Given the description of an element on the screen output the (x, y) to click on. 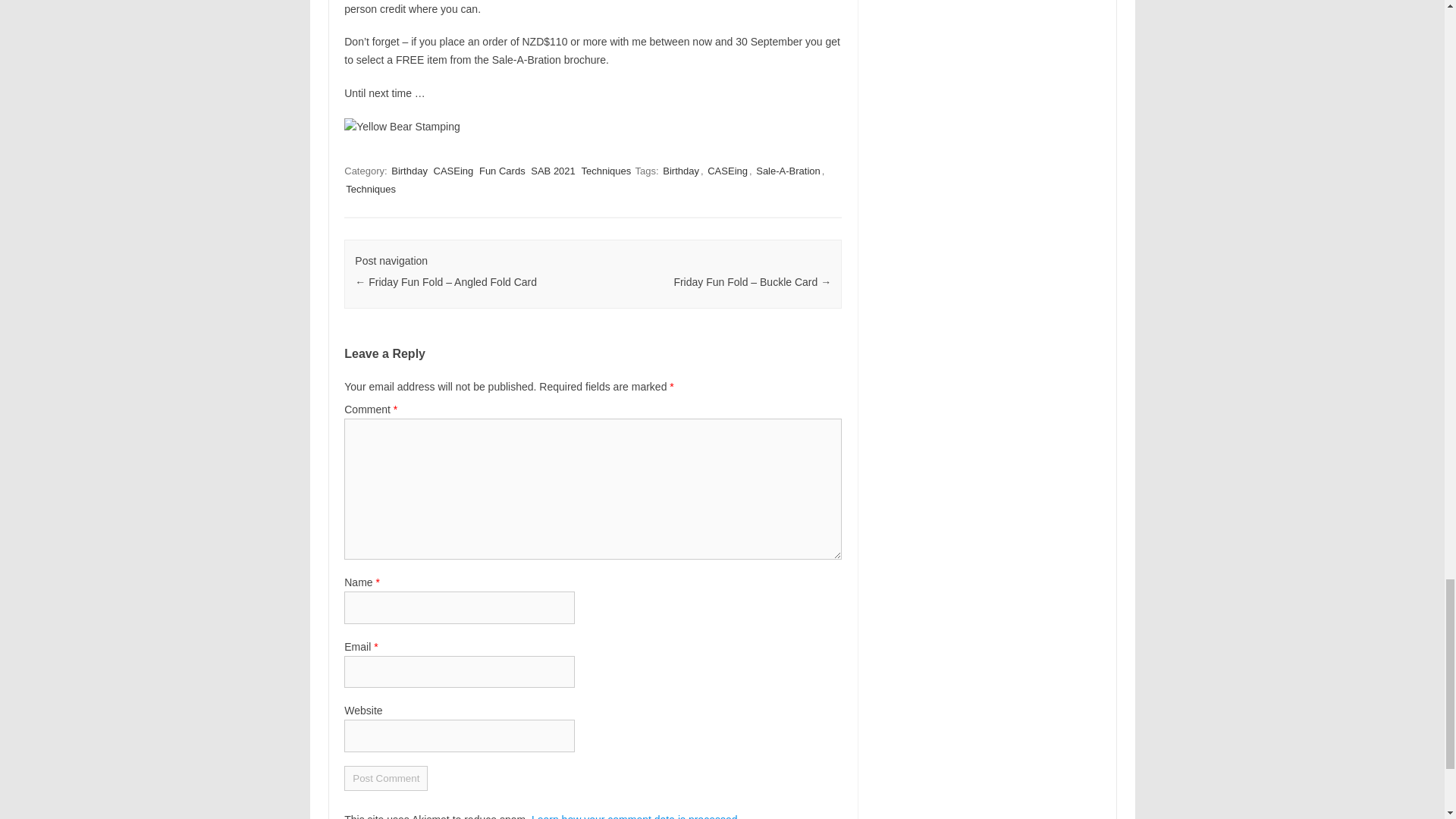
SAB 2021 (552, 170)
Birthday (409, 170)
Techniques (605, 170)
CASEing (454, 170)
Sale-A-Bration (788, 170)
Birthday (680, 170)
Post Comment (385, 778)
CASEing (727, 170)
Techniques (370, 188)
Fun Cards (502, 170)
